Given the description of an element on the screen output the (x, y) to click on. 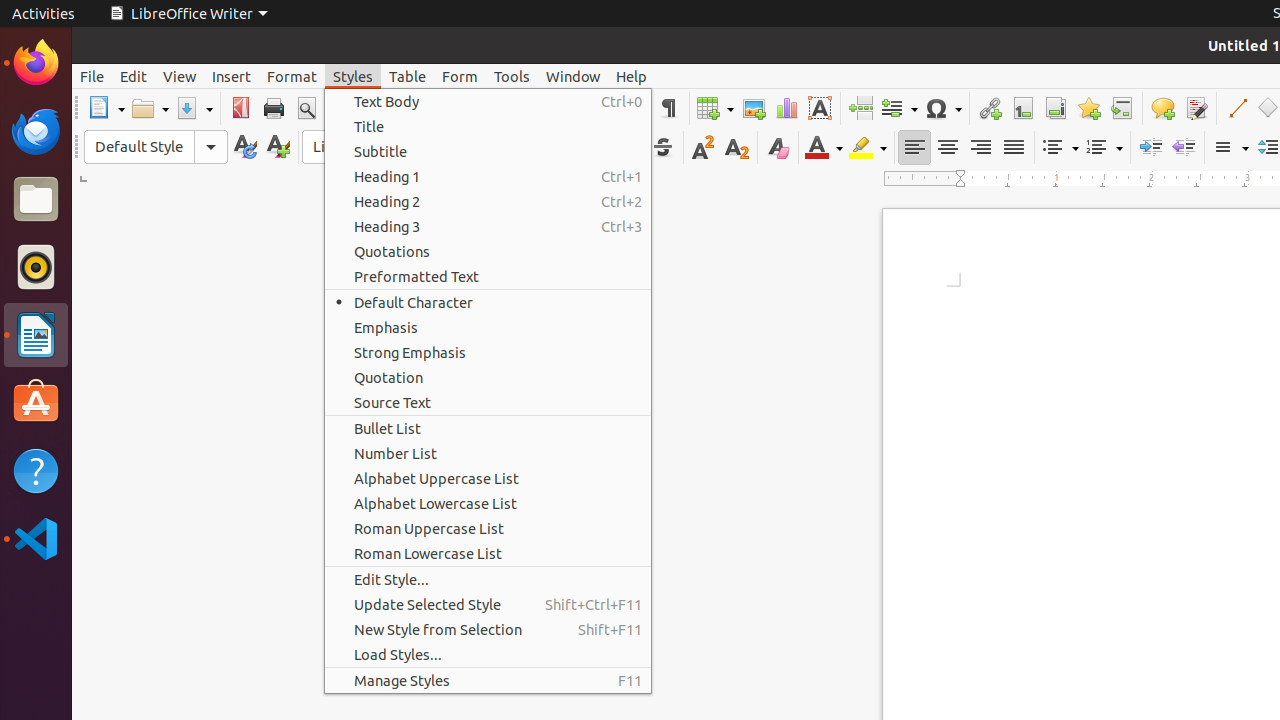
Bookmark Element type: push-button (1088, 108)
Insert Element type: menu (231, 76)
Visual Studio Code Element type: push-button (36, 538)
Endnote Element type: push-button (1055, 108)
Text Body Element type: radio-menu-item (488, 101)
